Given the description of an element on the screen output the (x, y) to click on. 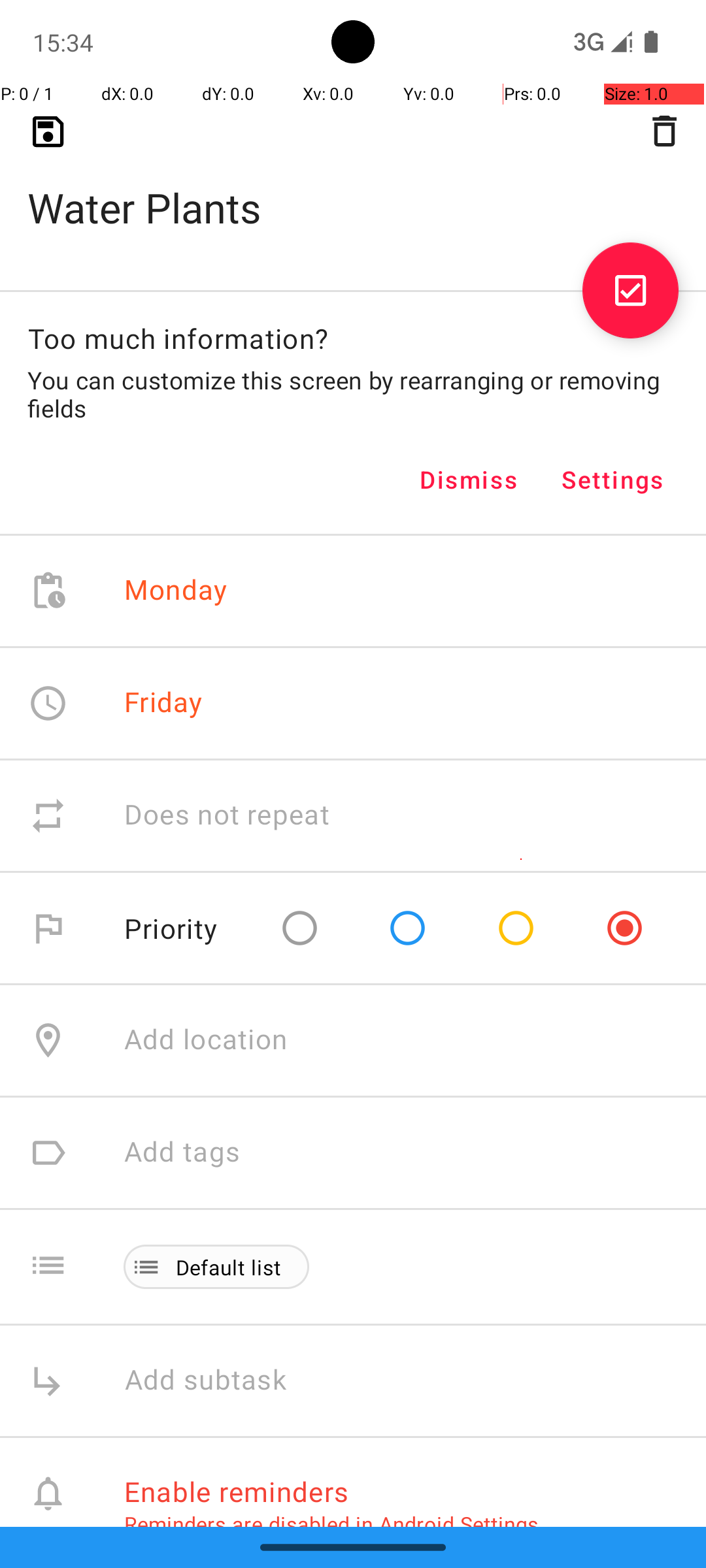
Water Plants Element type: android.widget.EditText (353, 186)
Enable reminders Element type: android.widget.TextView (236, 1490)
Reminders are disabled in Android Settings Element type: android.widget.TextView (331, 1523)
